Given the description of an element on the screen output the (x, y) to click on. 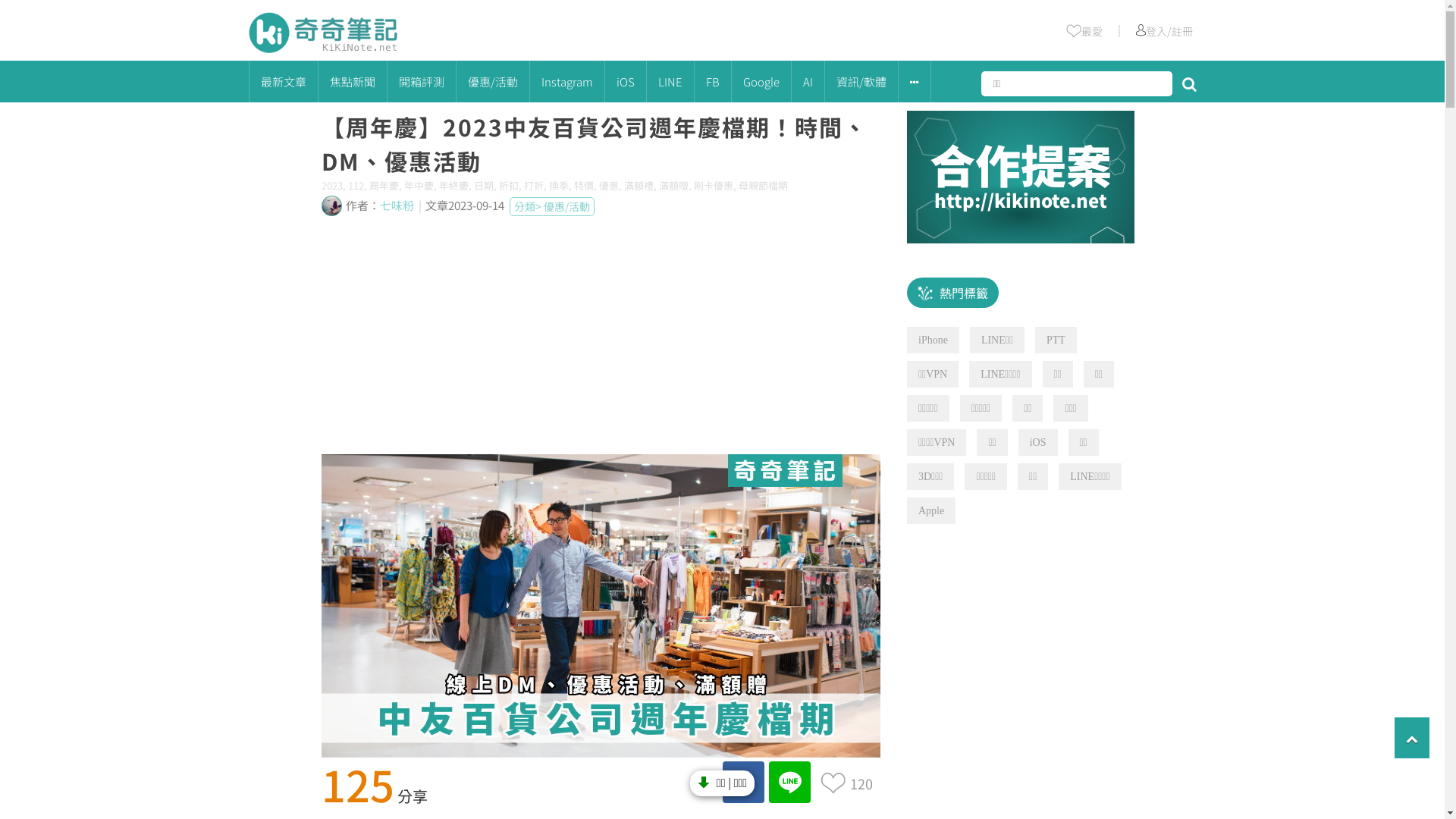
Apple Element type: text (930, 510)
iPhone Element type: text (932, 339)
iOS Element type: text (1037, 442)
FB Element type: text (712, 81)
Instagram Element type: text (566, 81)
AI Element type: text (807, 81)
iOS Element type: text (625, 81)
120 Element type: text (861, 780)
PTT Element type: text (1055, 339)
LINE Element type: text (669, 81)
Google Element type: text (760, 81)
